Given the description of an element on the screen output the (x, y) to click on. 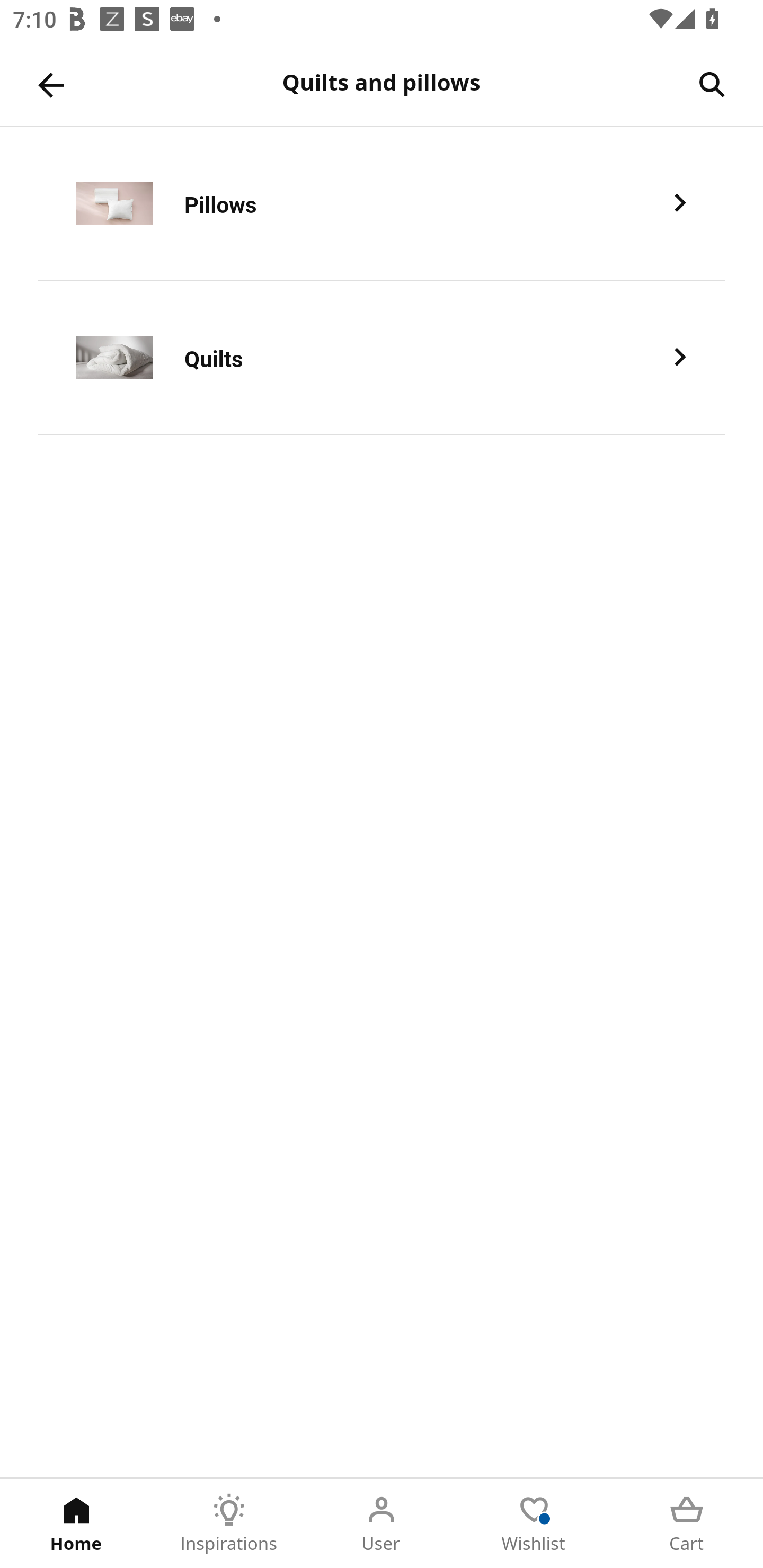
Pillows (381, 203)
Quilts (381, 357)
Home
Tab 1 of 5 (76, 1522)
Inspirations
Tab 2 of 5 (228, 1522)
User
Tab 3 of 5 (381, 1522)
Wishlist
Tab 4 of 5 (533, 1522)
Cart
Tab 5 of 5 (686, 1522)
